Given the description of an element on the screen output the (x, y) to click on. 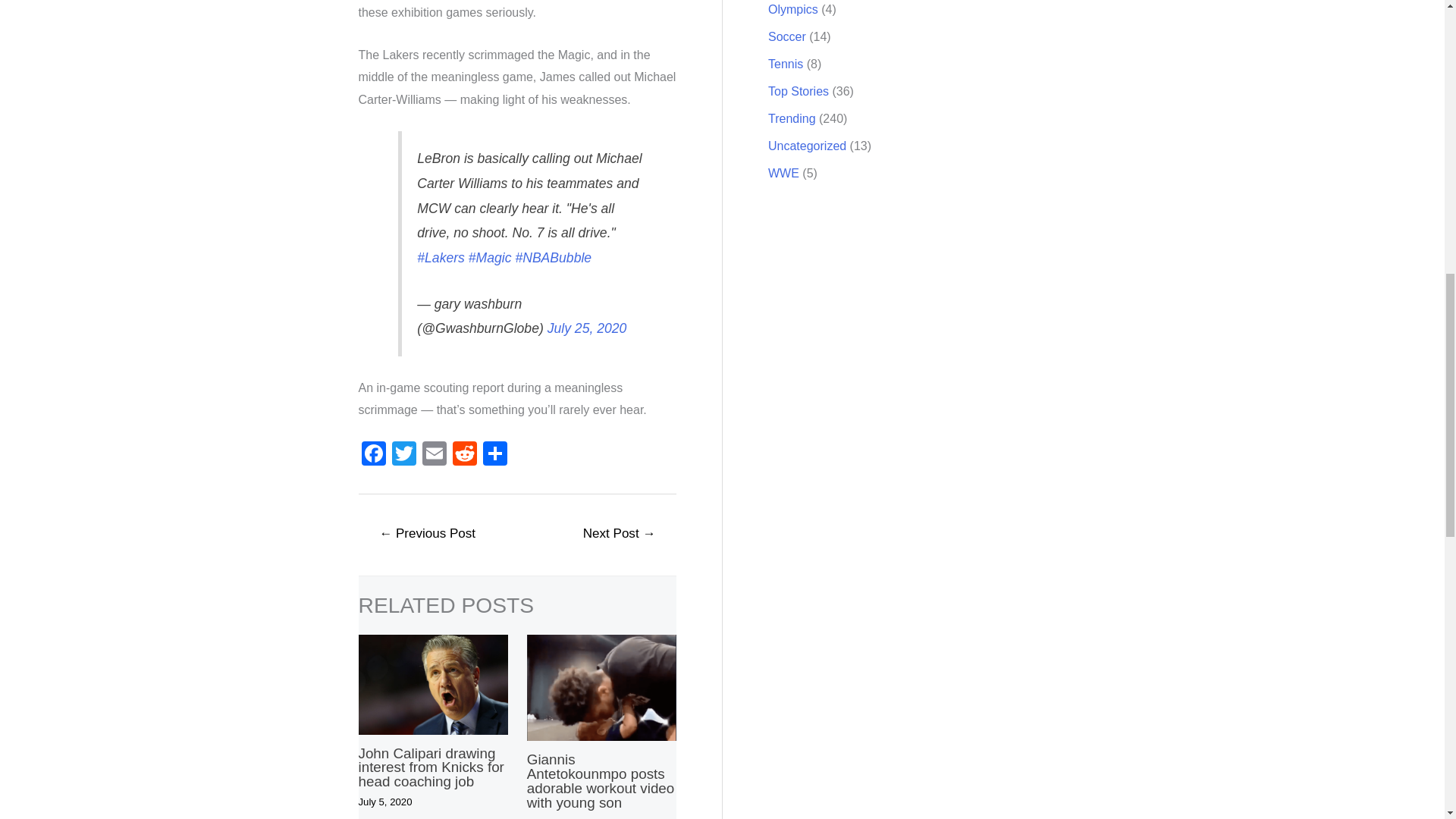
Reddit (463, 455)
Twitter (403, 455)
July 25, 2020 (587, 328)
Facebook (373, 455)
Facebook (373, 455)
Email (433, 455)
Email (433, 455)
Twitter (403, 455)
Reddit (463, 455)
